Given the description of an element on the screen output the (x, y) to click on. 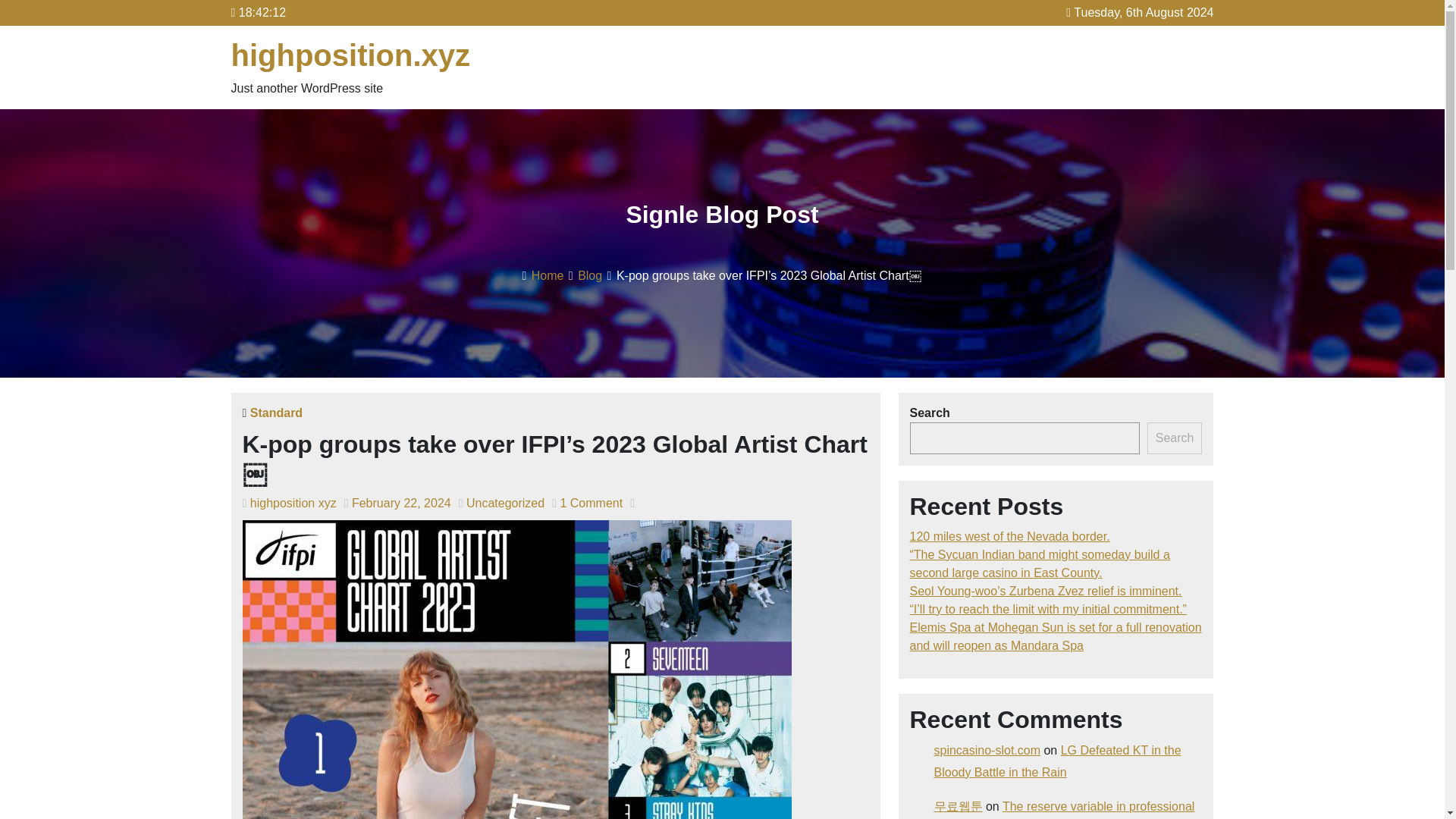
1 Comment (591, 502)
February 22, 2024 (401, 502)
spincasino-slot.com (987, 749)
Home (547, 275)
Blog (590, 275)
120 miles west of the Nevada border. (1009, 535)
LG Defeated KT in the Bloody Battle in the Rain (1057, 760)
highposition xyz (293, 502)
highposition.xyz (350, 55)
Search (1174, 438)
Uncategorized (504, 502)
